Given the description of an element on the screen output the (x, y) to click on. 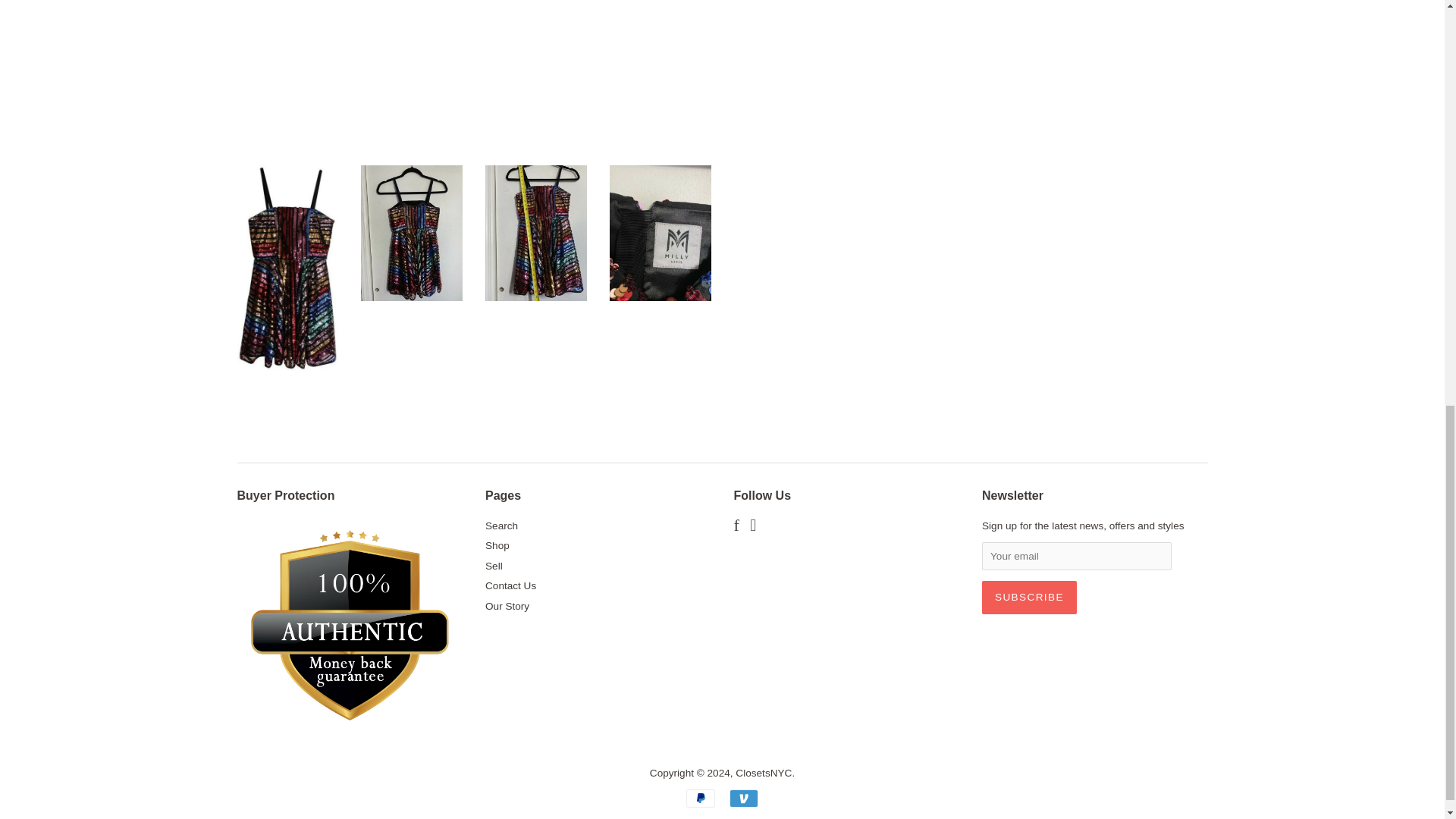
Venmo (743, 798)
Search (501, 525)
Subscribe (1029, 597)
PayPal (699, 798)
Sell (493, 565)
ClosetsNYC (763, 772)
Contact Us (509, 585)
Shop (496, 545)
Subscribe (1029, 597)
Our Story (506, 605)
